Given the description of an element on the screen output the (x, y) to click on. 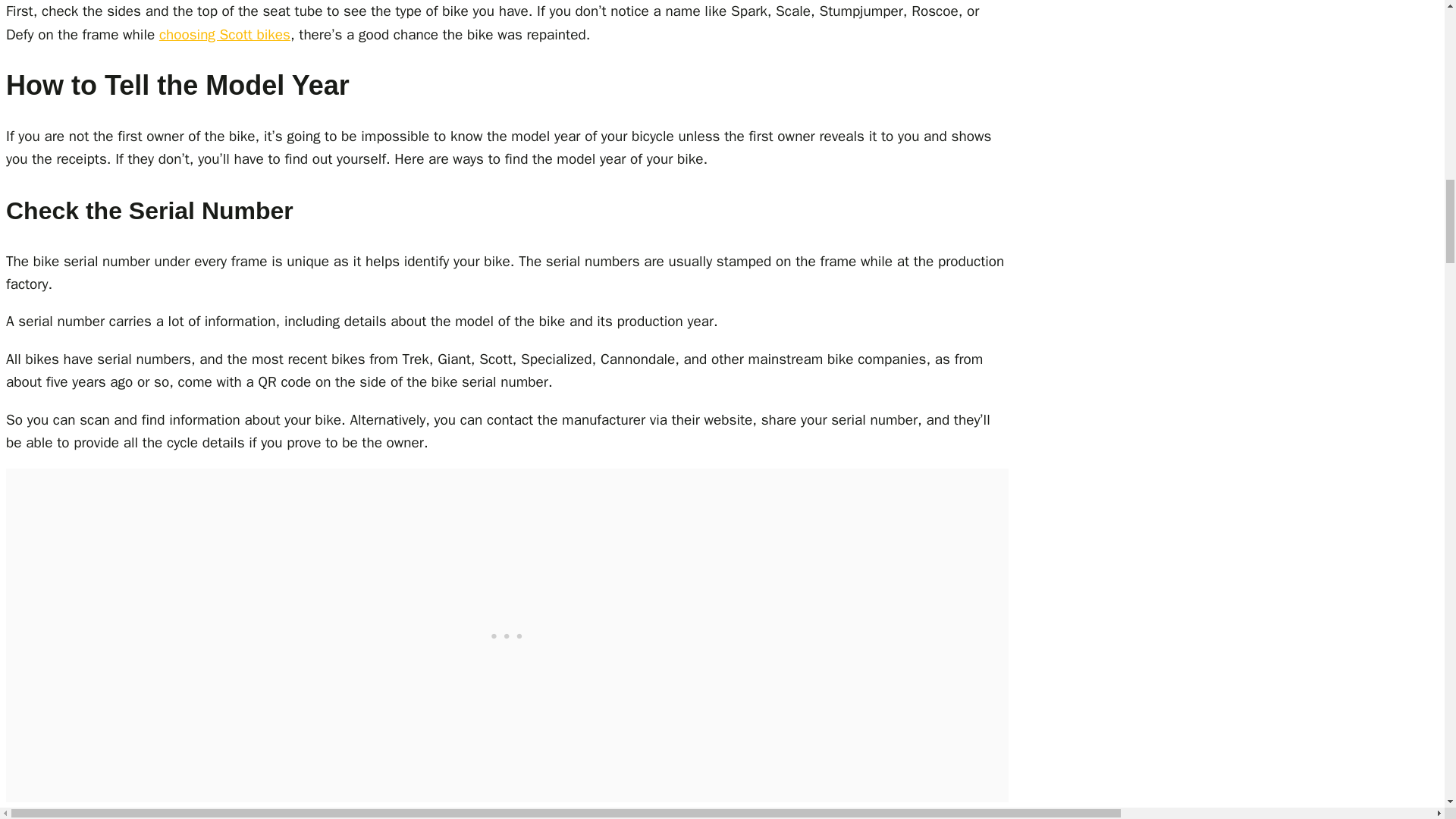
choosing Scott bikes (223, 34)
